Given the description of an element on the screen output the (x, y) to click on. 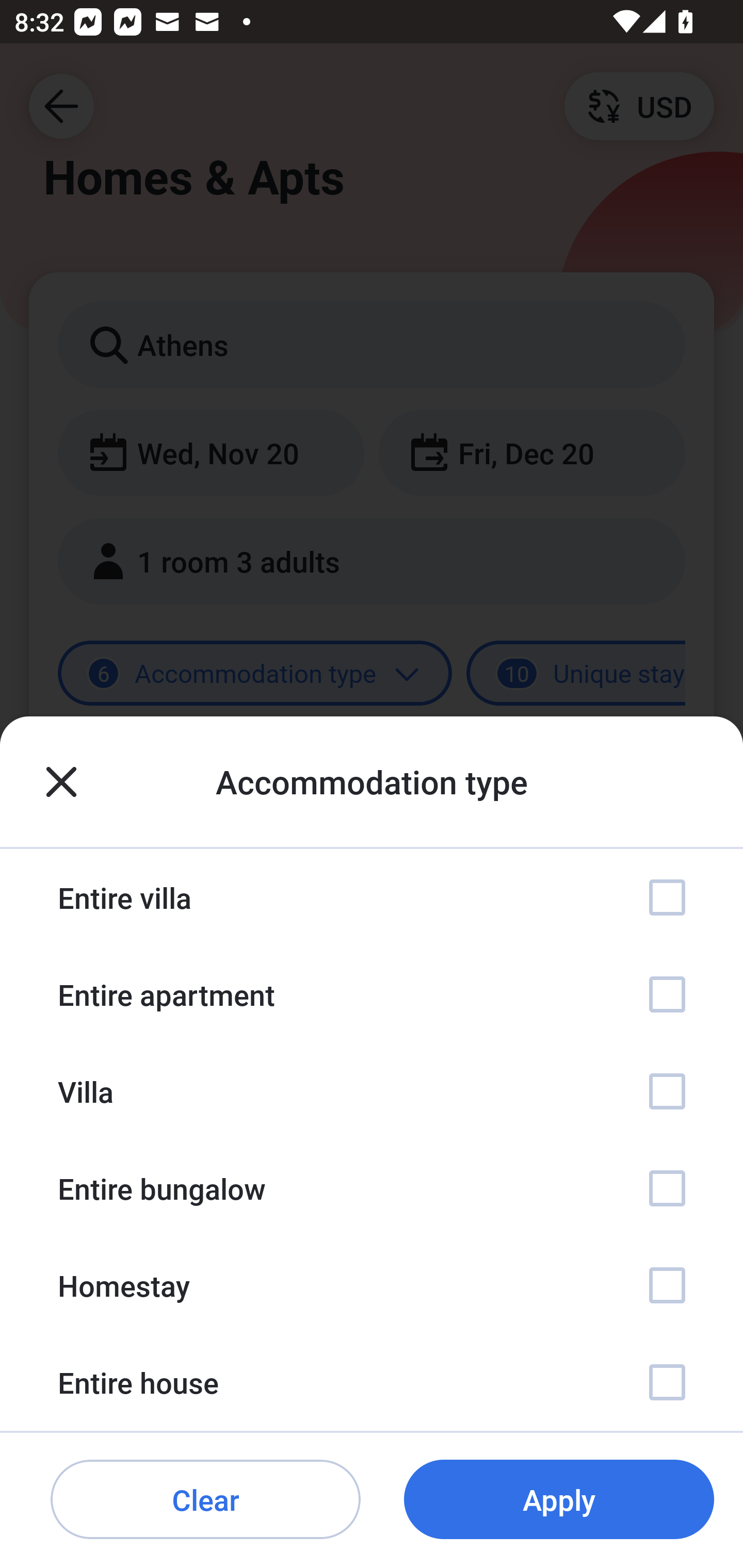
Entire villa (371, 897)
Entire apartment (371, 994)
Villa (371, 1091)
Entire bungalow (371, 1188)
Homestay (371, 1284)
Entire house (371, 1382)
Clear (205, 1499)
Apply (559, 1499)
